Given the description of an element on the screen output the (x, y) to click on. 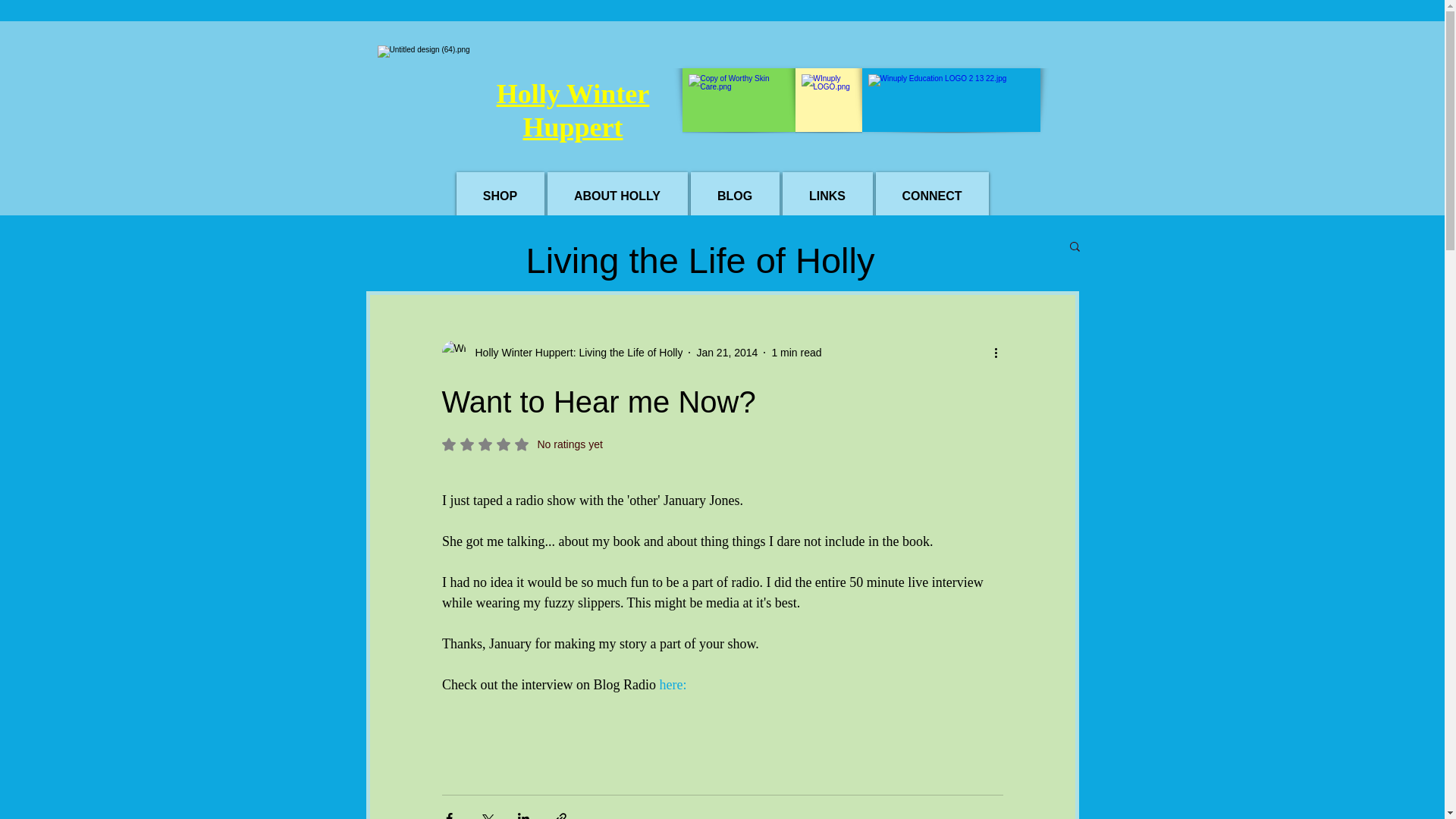
Holly Winter Huppert: Living the Life of Holly (561, 352)
Holly Winter Huppert (572, 109)
BLOG (734, 195)
SHOP (500, 195)
Jan 21, 2014 (726, 351)
CONNECT (931, 195)
LINKS (827, 195)
ABOUT HOLLY (617, 195)
Holly Winter Huppert: Living the Life of Holly (573, 351)
1 min read (521, 444)
here: (796, 351)
